Given the description of an element on the screen output the (x, y) to click on. 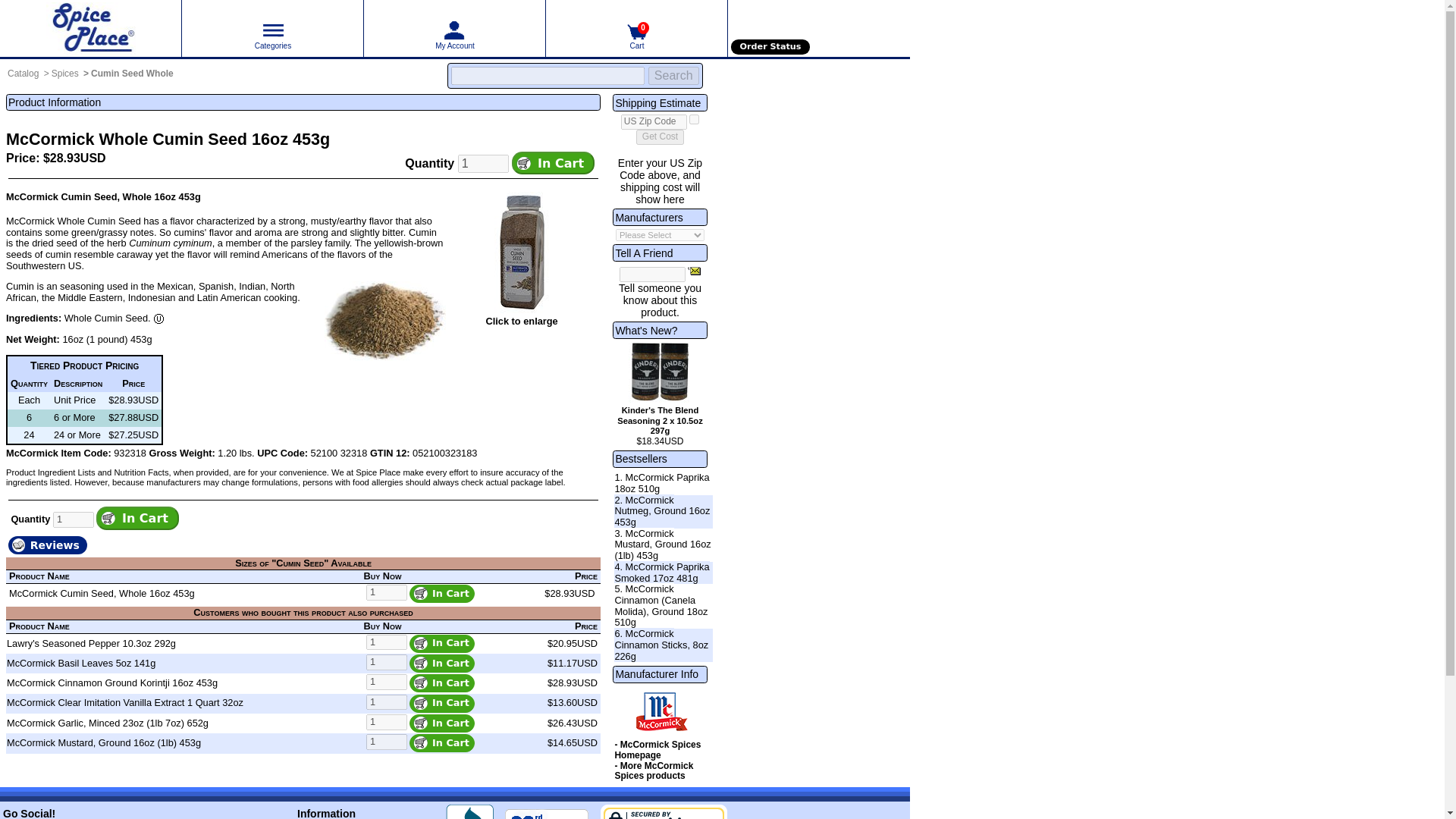
Click to enlarge (520, 320)
1 (73, 519)
In Cart (441, 663)
Search (672, 75)
Cumin Seed Whole (131, 72)
McCormick Cumin Seed, Whole 16oz 453g (101, 593)
1 (386, 682)
Catalog (23, 72)
1 (386, 702)
Spice Place (90, 28)
